Given the description of an element on the screen output the (x, y) to click on. 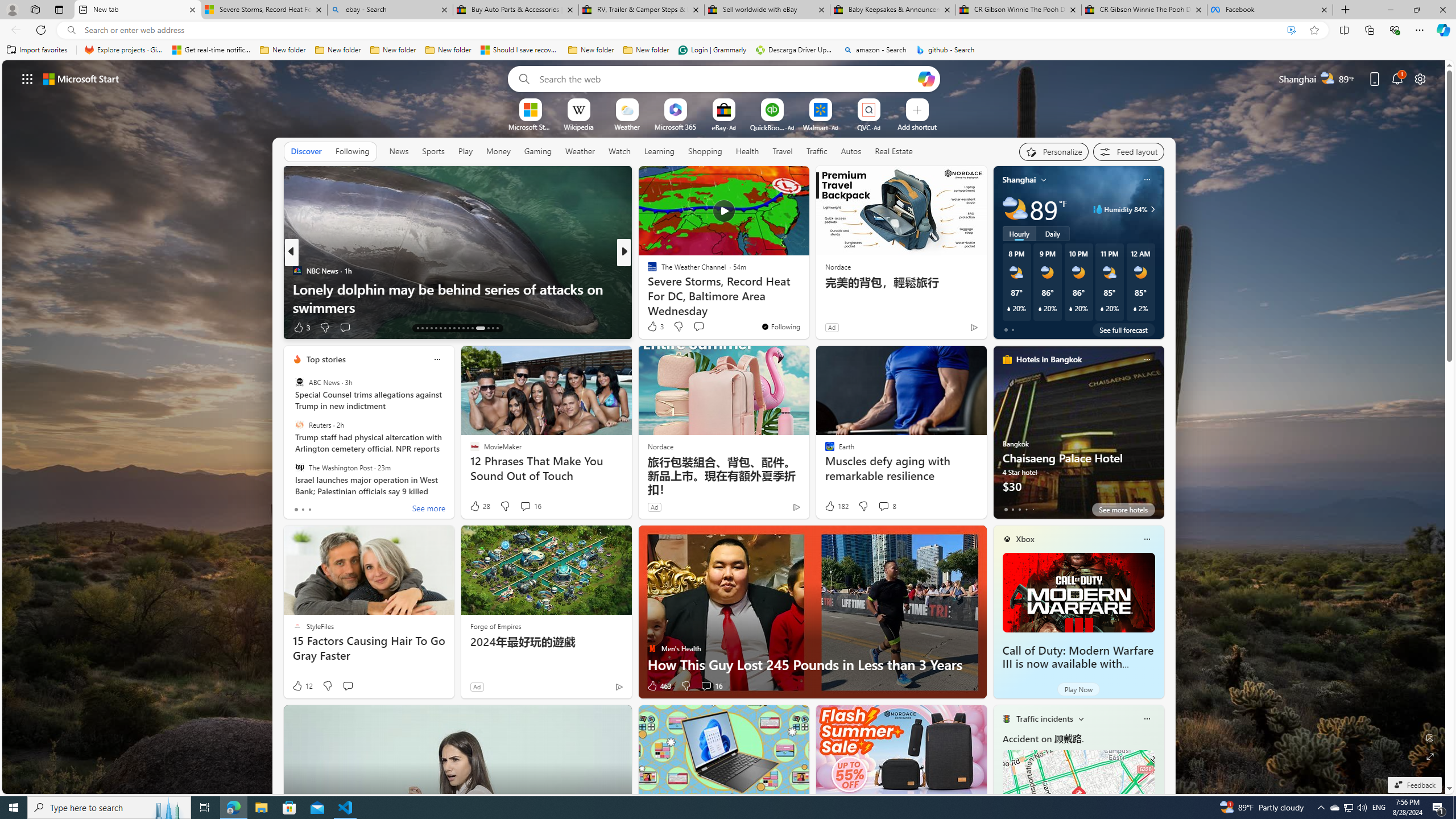
Facebook (1270, 9)
New folder (646, 49)
MUO (647, 288)
463 Like (658, 685)
Autos (850, 151)
Should I save recovered Word documents? - Microsoft Support (519, 49)
View comments 96 Comment (6, 327)
